Given the description of an element on the screen output the (x, y) to click on. 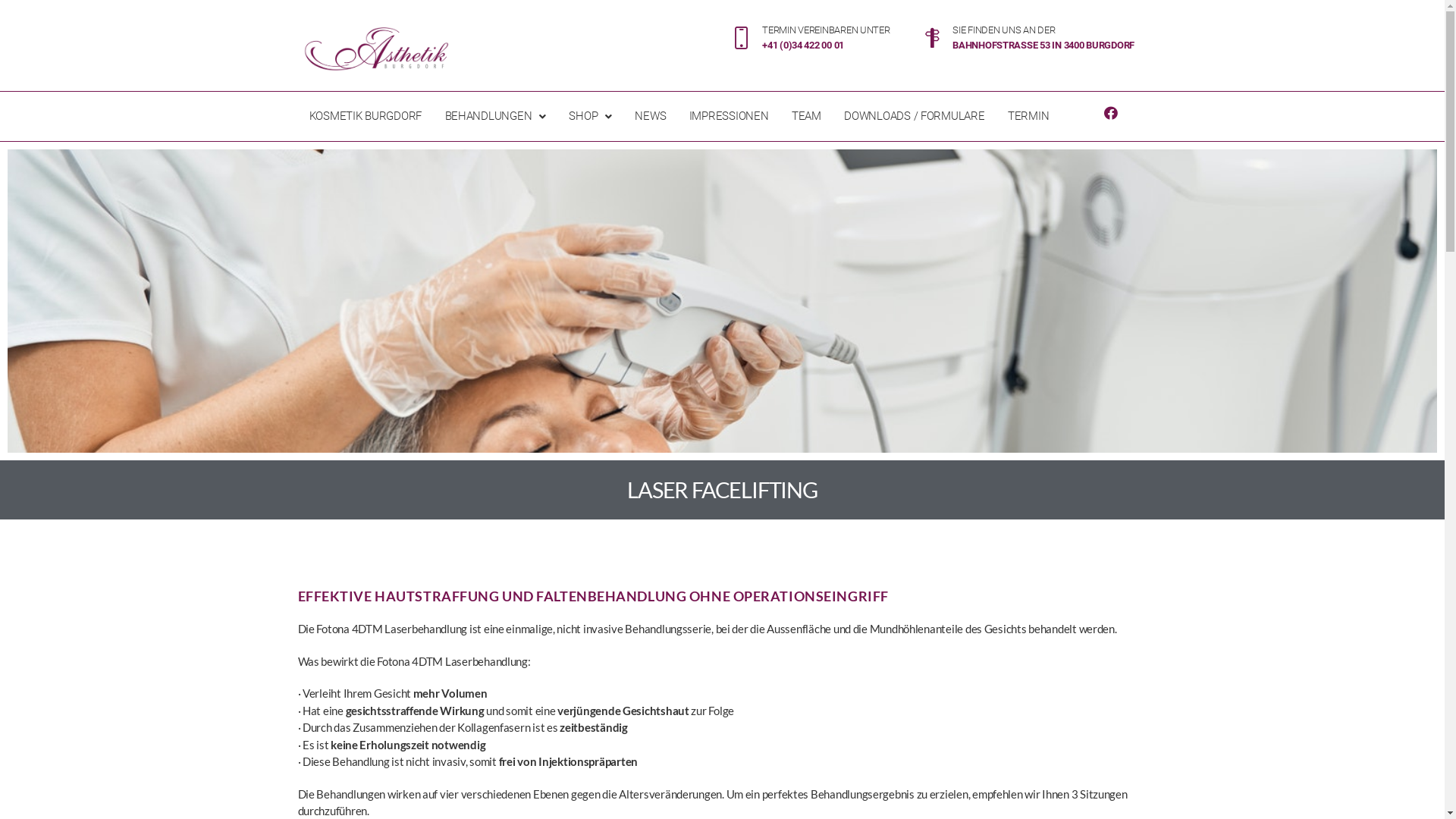
NEWS Element type: text (650, 116)
TERMIN VEREINBAREN UNTER
+41 (0)34 422 00 01 Element type: text (810, 37)
SHOP Element type: text (590, 116)
DOWNLOADS / FORMULARE Element type: text (914, 116)
TEAM Element type: text (806, 116)
TERMIN Element type: text (1028, 116)
BEHANDLUNGEN Element type: text (495, 116)
IMPRESSIONEN Element type: text (728, 116)
KOSMETIK BURGDORF Element type: text (365, 116)
